Given the description of an element on the screen output the (x, y) to click on. 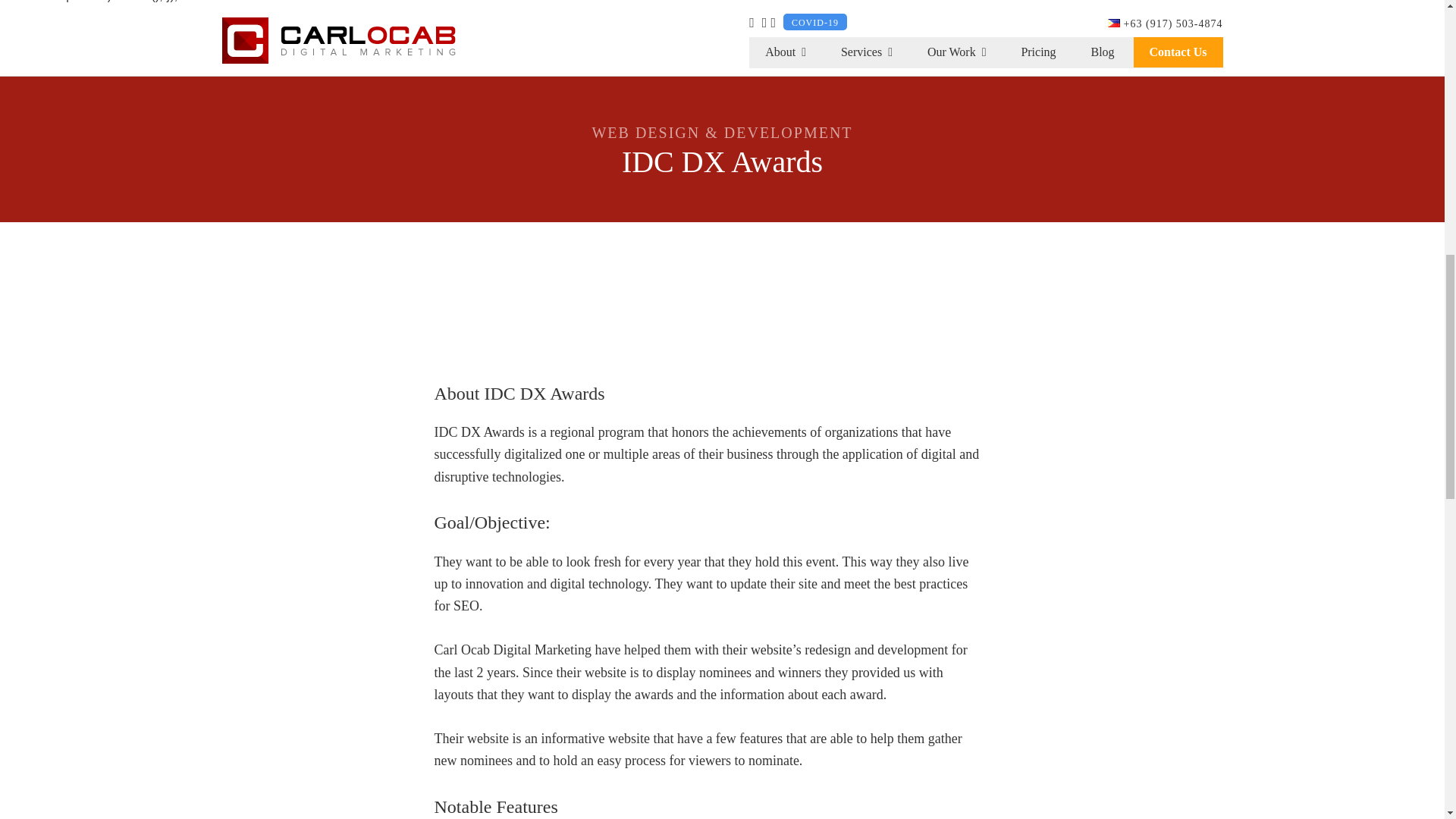
Services (866, 51)
Blog (1101, 51)
CARL OCAB (353, 40)
Pricing (1037, 51)
Our Work (957, 51)
Contact Us (1177, 51)
About (785, 51)
